Given the description of an element on the screen output the (x, y) to click on. 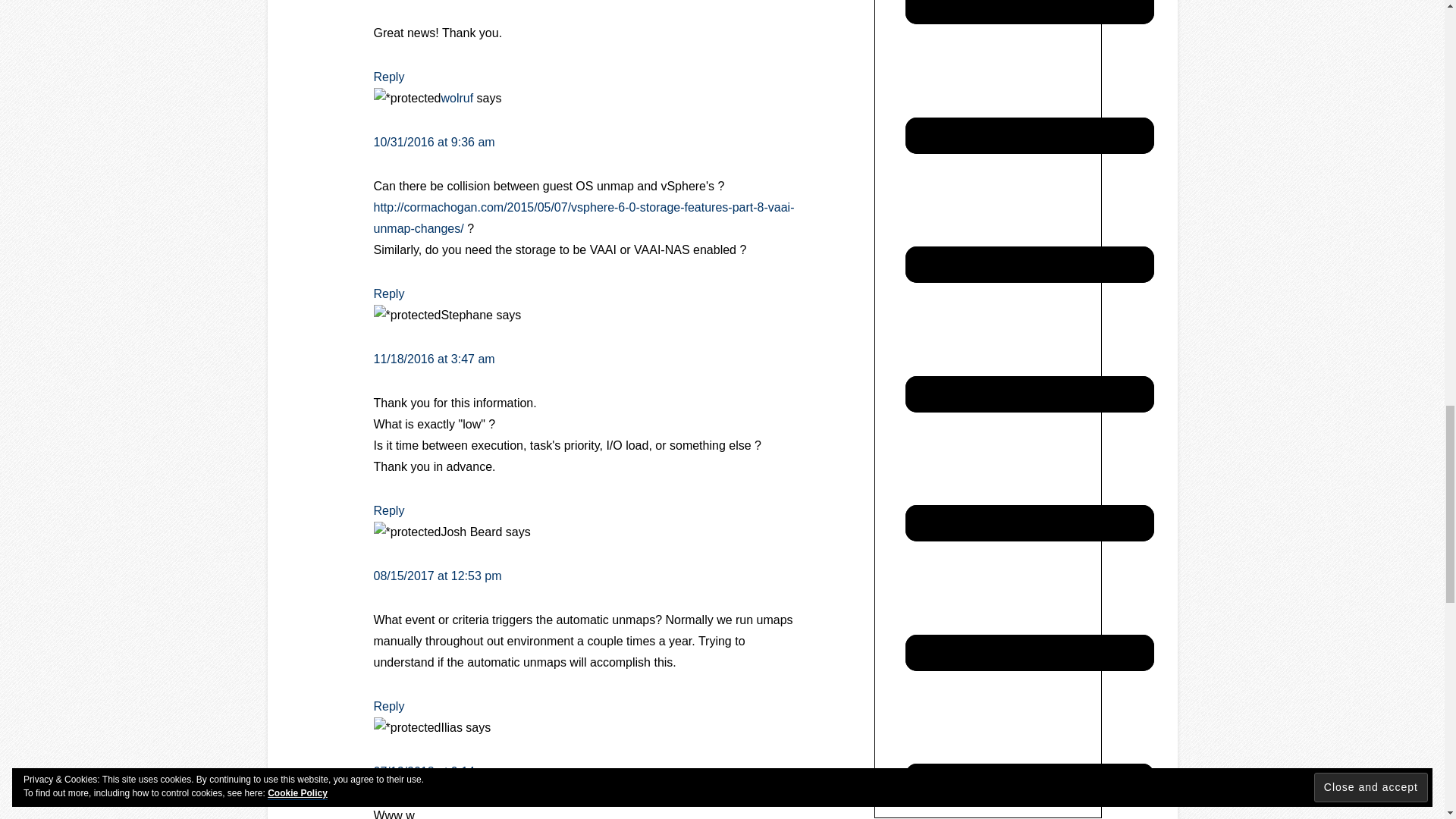
Mastodon (1028, 212)
GitHub (1028, 5)
LinkedIn (1028, 82)
Twitter (1028, 599)
Reply (388, 76)
Vimeo (1028, 729)
Reddit (1028, 341)
RSS (1028, 470)
